Given the description of an element on the screen output the (x, y) to click on. 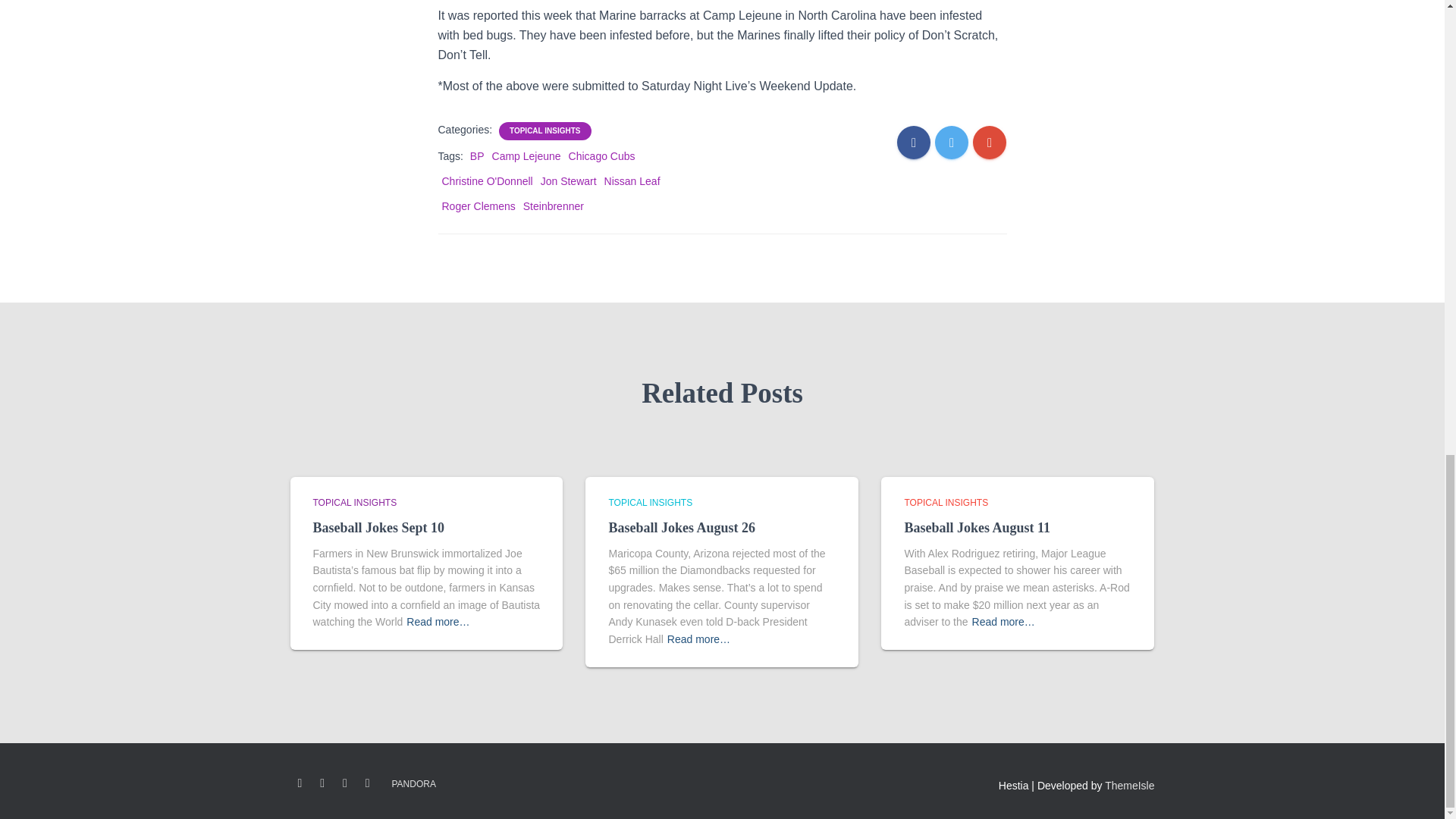
Chicago Cubs (601, 155)
TOPICAL INSIGHTS (354, 502)
BP (477, 155)
View all posts in Topical Insights (354, 502)
Jon Stewart (568, 181)
Steinbrenner (552, 205)
TOPICAL INSIGHTS (946, 502)
Camp Lejeune (526, 155)
Roger Clemens (478, 205)
TOPICAL INSIGHTS (545, 131)
Christine O'Donnell (486, 181)
Baseball Jokes August 26 (681, 527)
Baseball Jokes August 11 (976, 527)
TOPICAL INSIGHTS (650, 502)
Baseball Jokes Sept 10 (378, 527)
